Given the description of an element on the screen output the (x, y) to click on. 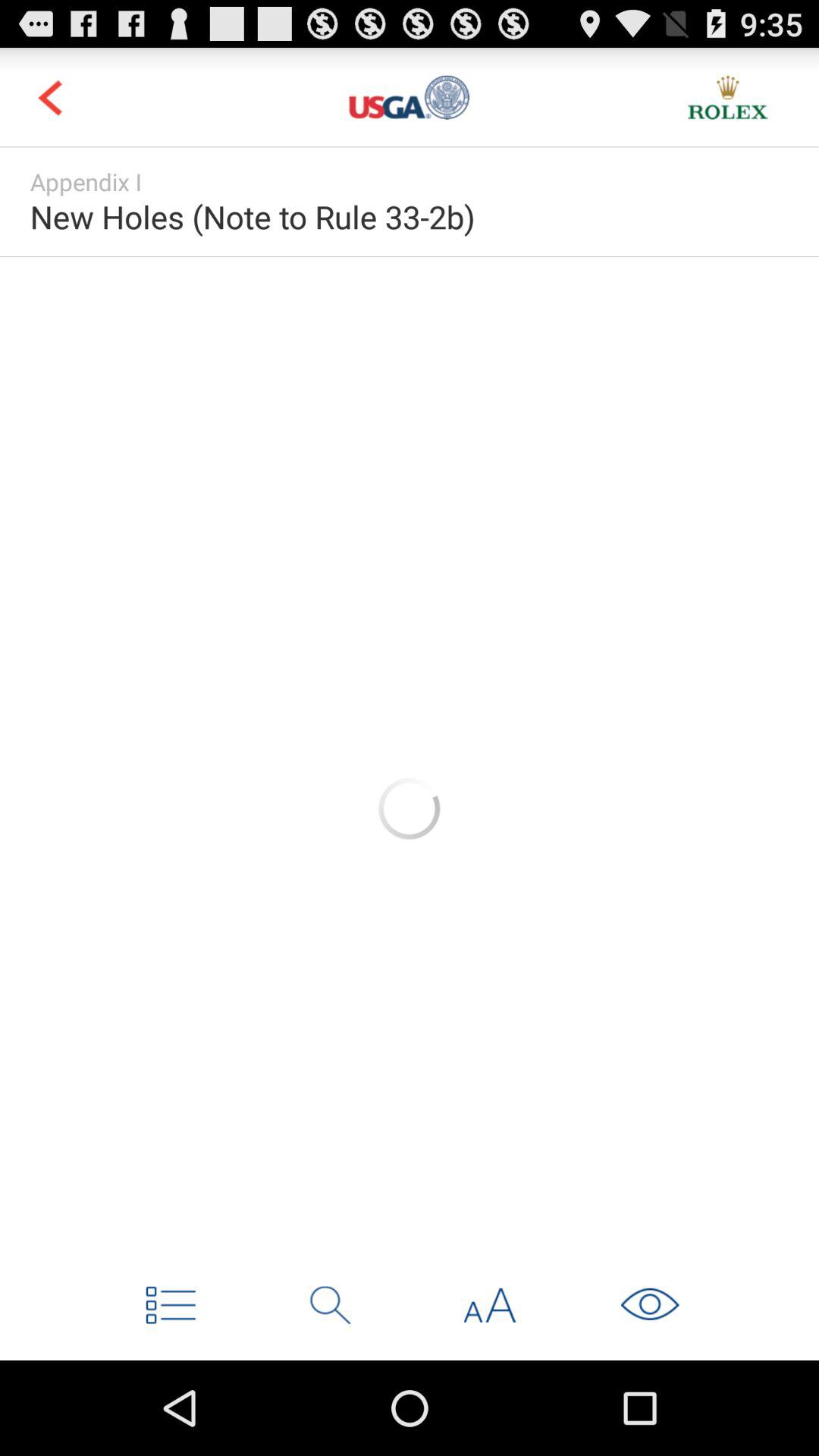
rolex (728, 97)
